Given the description of an element on the screen output the (x, y) to click on. 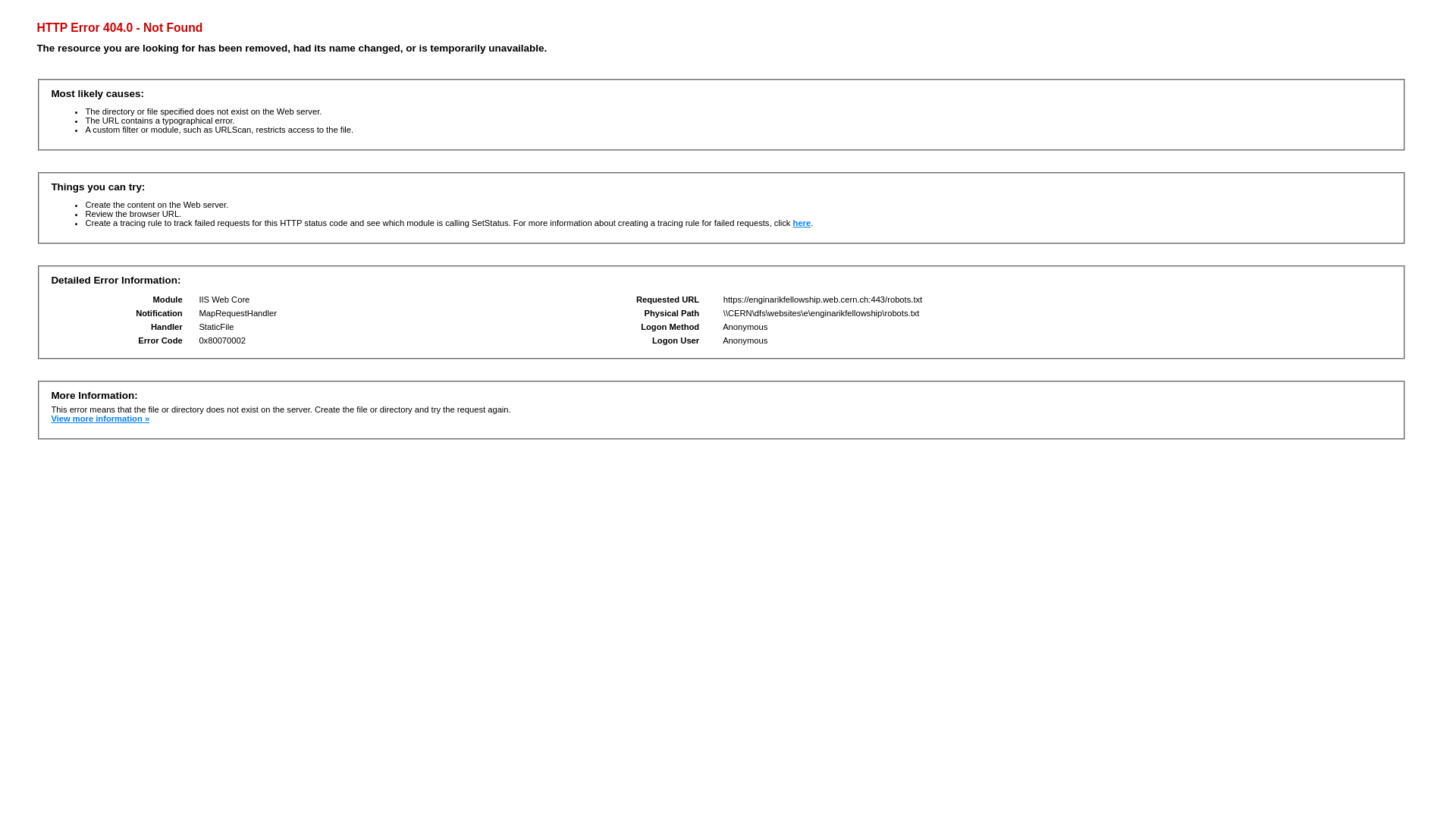
here Element type: text (802, 222)
